Given the description of an element on the screen output the (x, y) to click on. 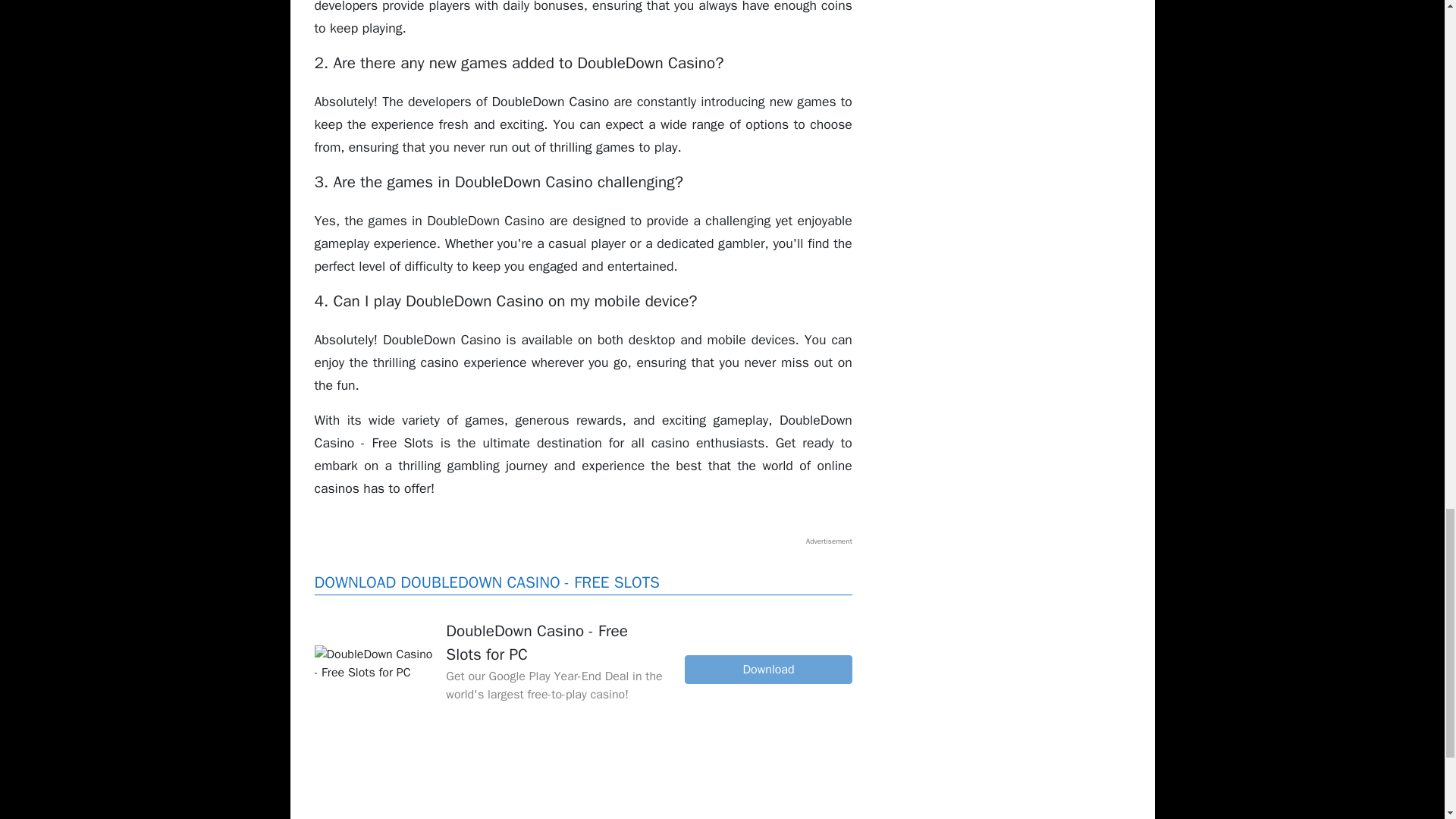
DoubleDown Casino - Free Slots (767, 669)
Download (767, 669)
DoubleDown Casino - Free Slots for PC (373, 663)
